Given the description of an element on the screen output the (x, y) to click on. 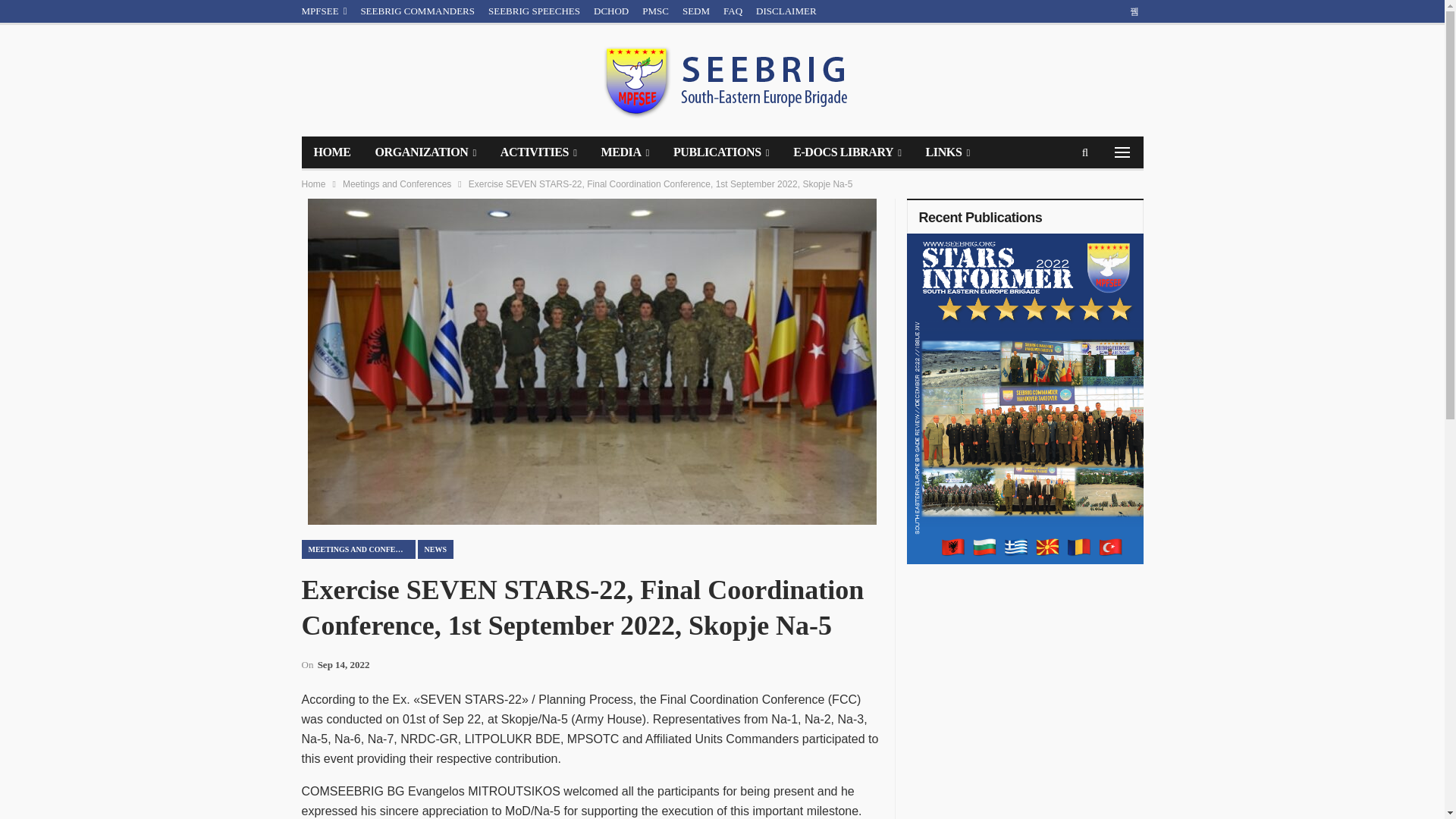
SEEBRIG SPEECHES (533, 10)
HOME (331, 152)
FAQ (732, 10)
ACTIVITIES (538, 152)
PMSC (655, 10)
MPFSEE (324, 10)
SEDM (696, 10)
DISCLAIMER (785, 10)
SEEBRIG COMMANDERS (416, 10)
DCHOD (611, 10)
